Given the description of an element on the screen output the (x, y) to click on. 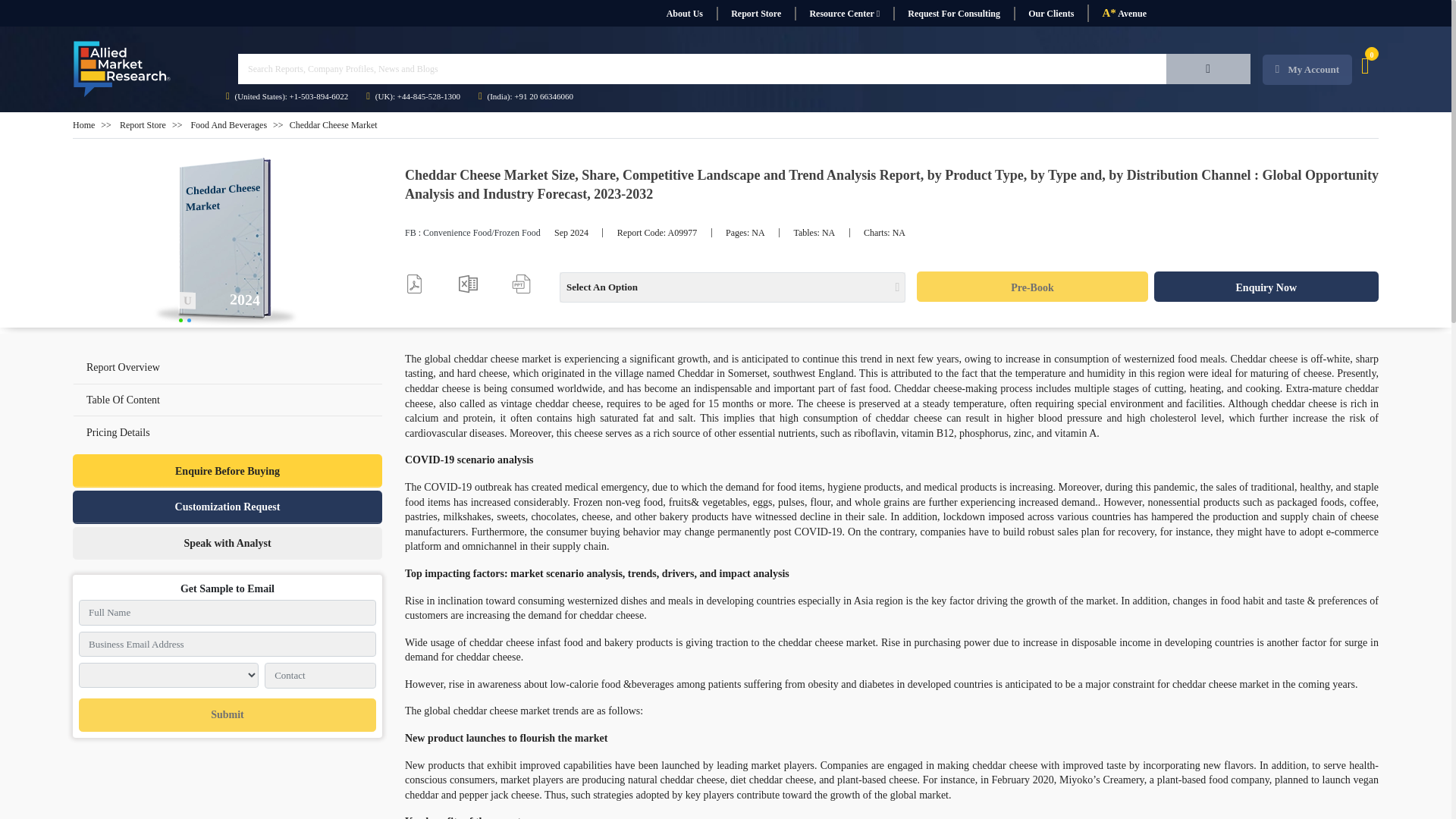
Our Clients (1050, 13)
Buy Now (1032, 286)
Report Store (142, 124)
Enquiry Now (1266, 286)
Speak with Analyst (226, 543)
About Us (684, 13)
Submit (226, 715)
Report Store (755, 13)
Pre-Book (1032, 286)
Resource Center (843, 13)
